Given the description of an element on the screen output the (x, y) to click on. 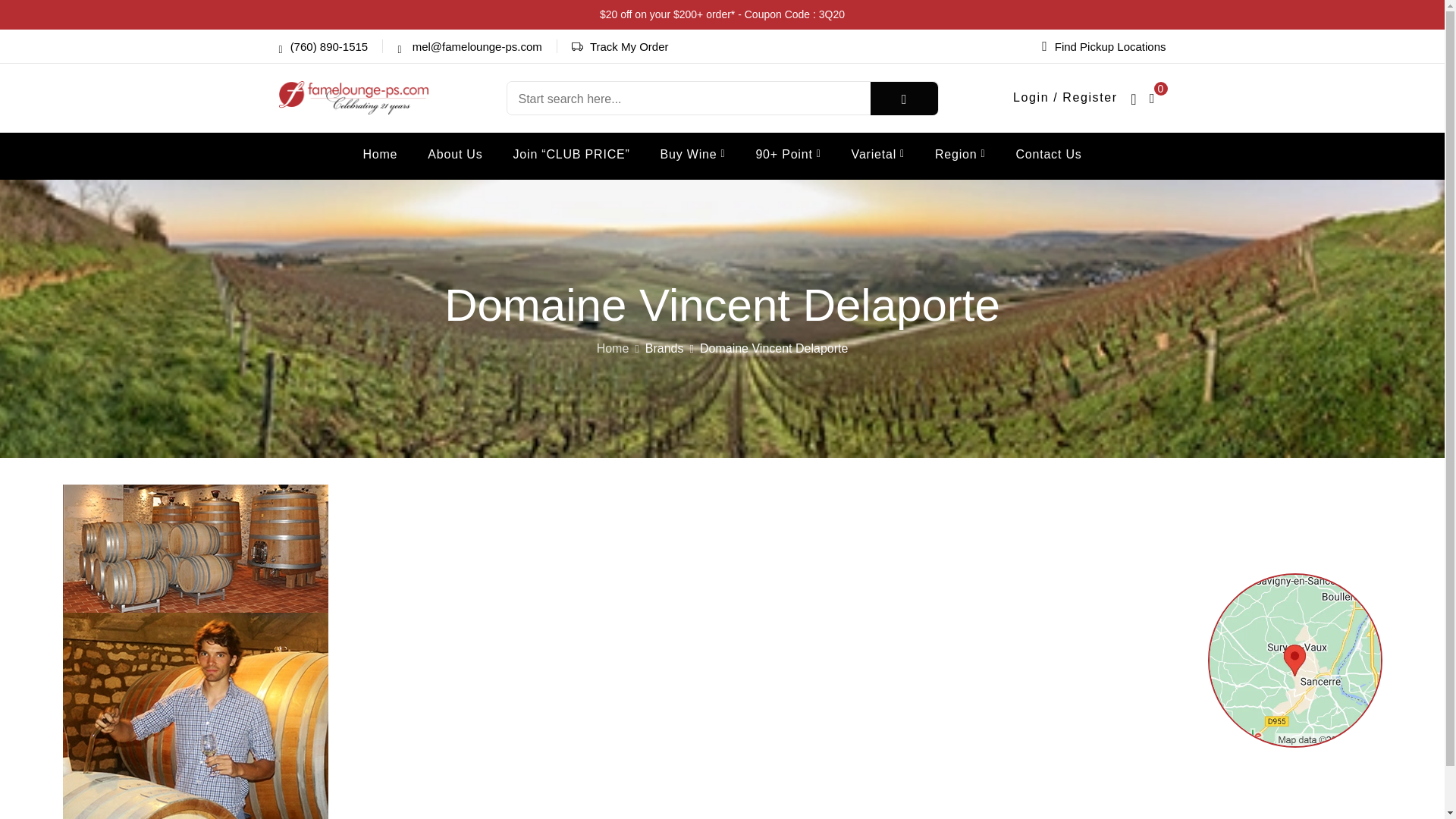
Search (903, 98)
Varietal (877, 154)
Find Pickup Locations (1104, 45)
Buy Wine (693, 154)
Track My Order (628, 45)
Home (379, 154)
About Us (454, 154)
